Given the description of an element on the screen output the (x, y) to click on. 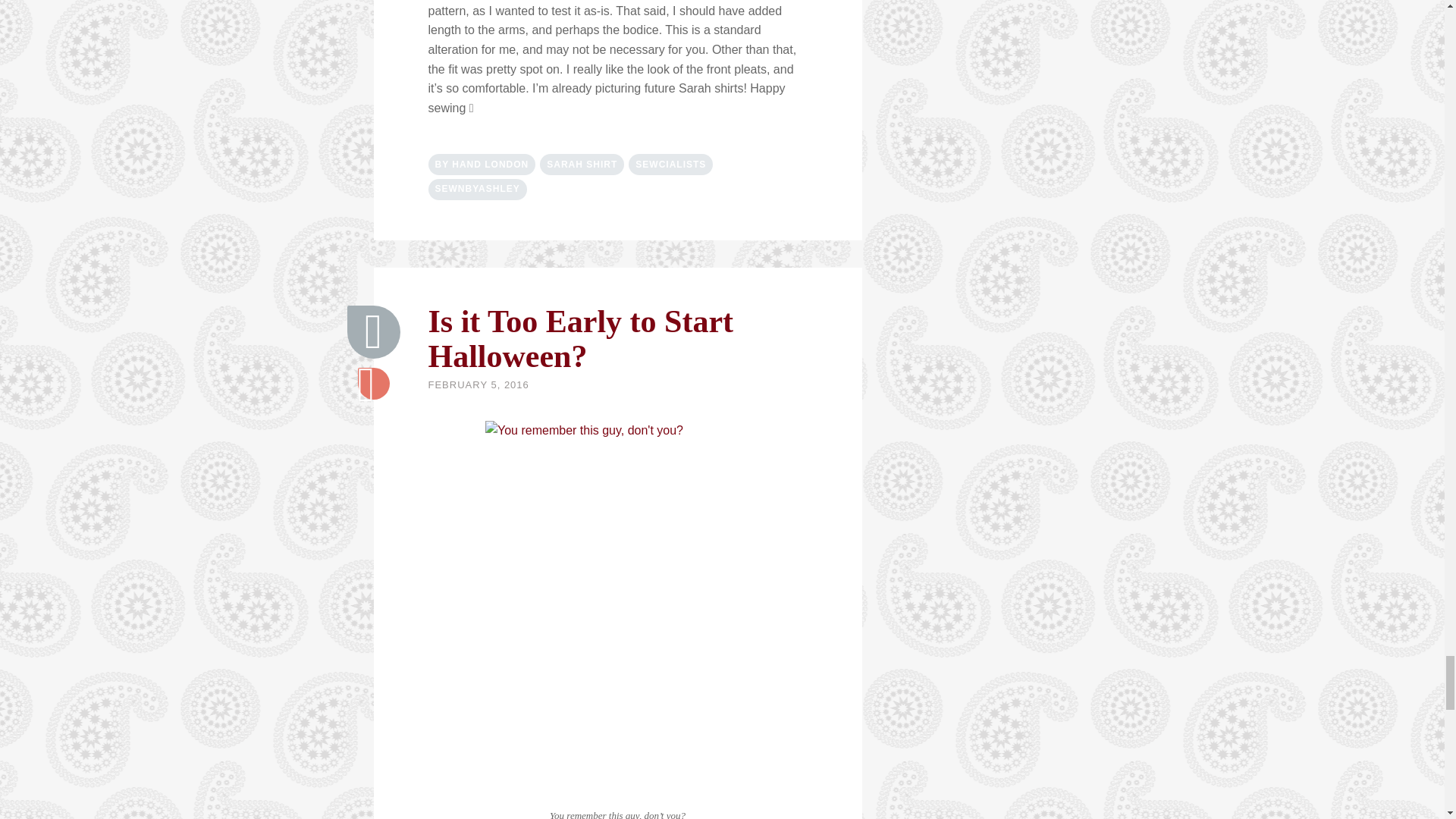
Is it Too Early to Start Halloween? (373, 331)
